Given the description of an element on the screen output the (x, y) to click on. 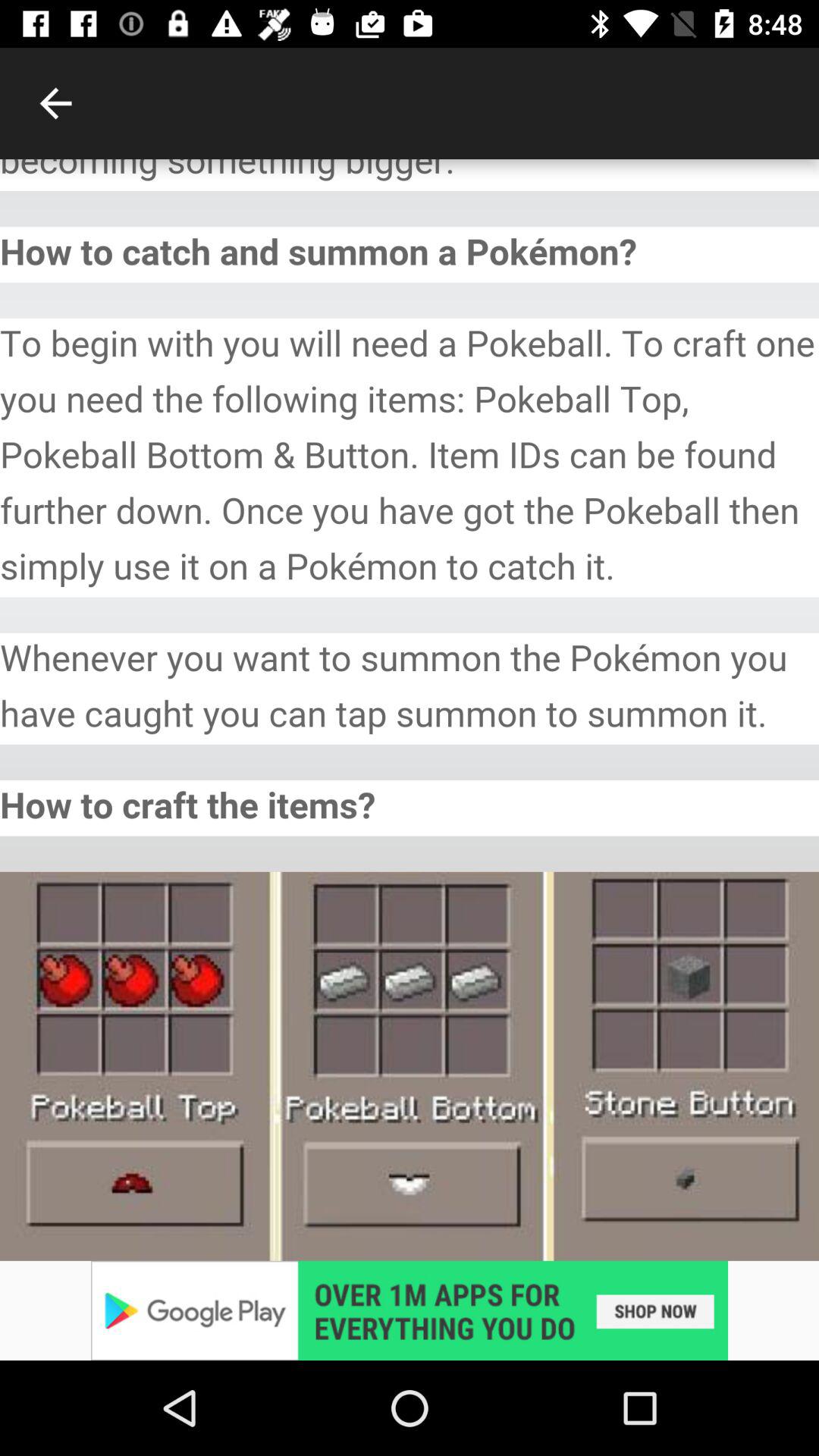
advertisement (409, 1310)
